Given the description of an element on the screen output the (x, y) to click on. 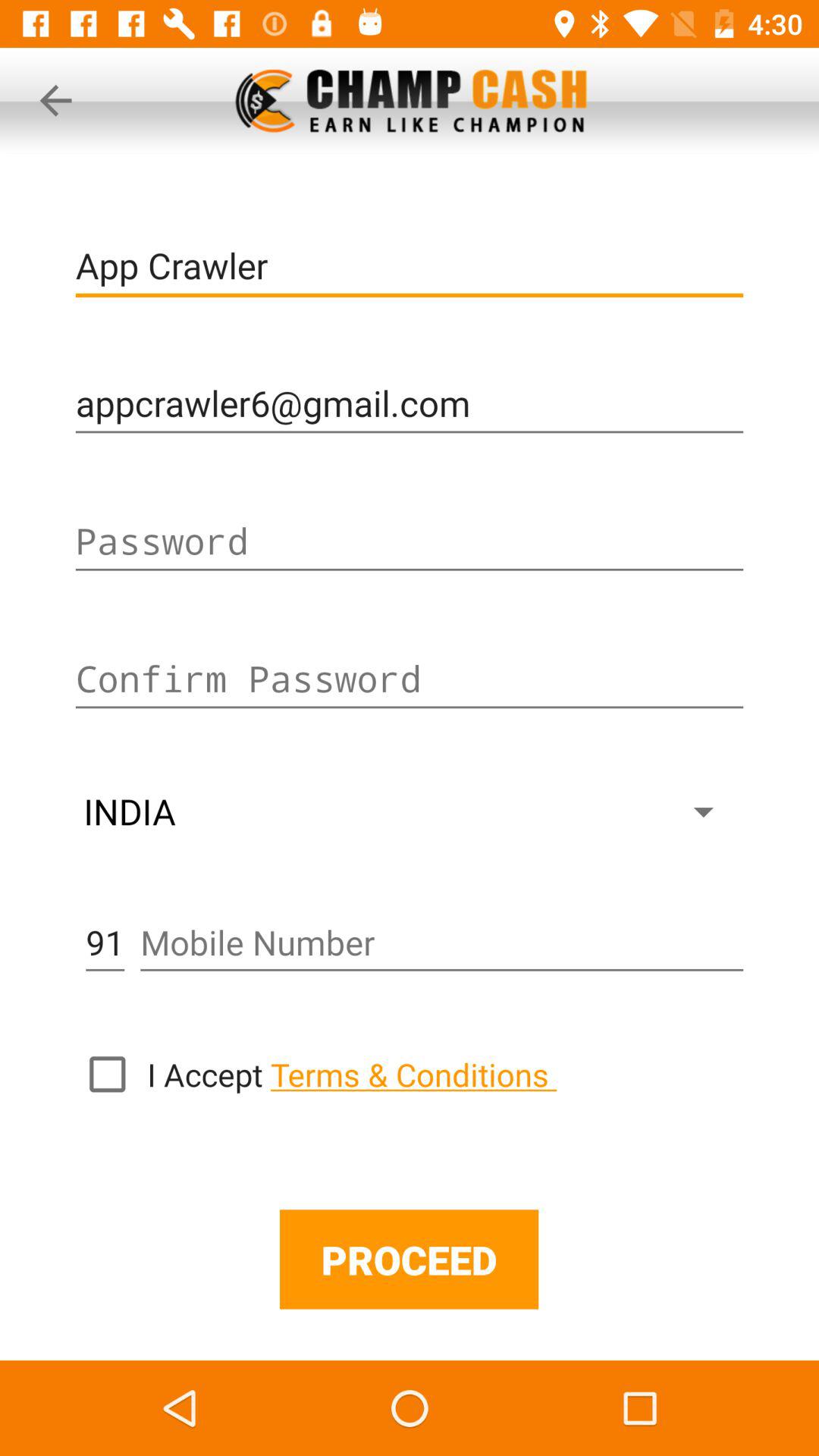
enter mobile number (441, 942)
